Given the description of an element on the screen output the (x, y) to click on. 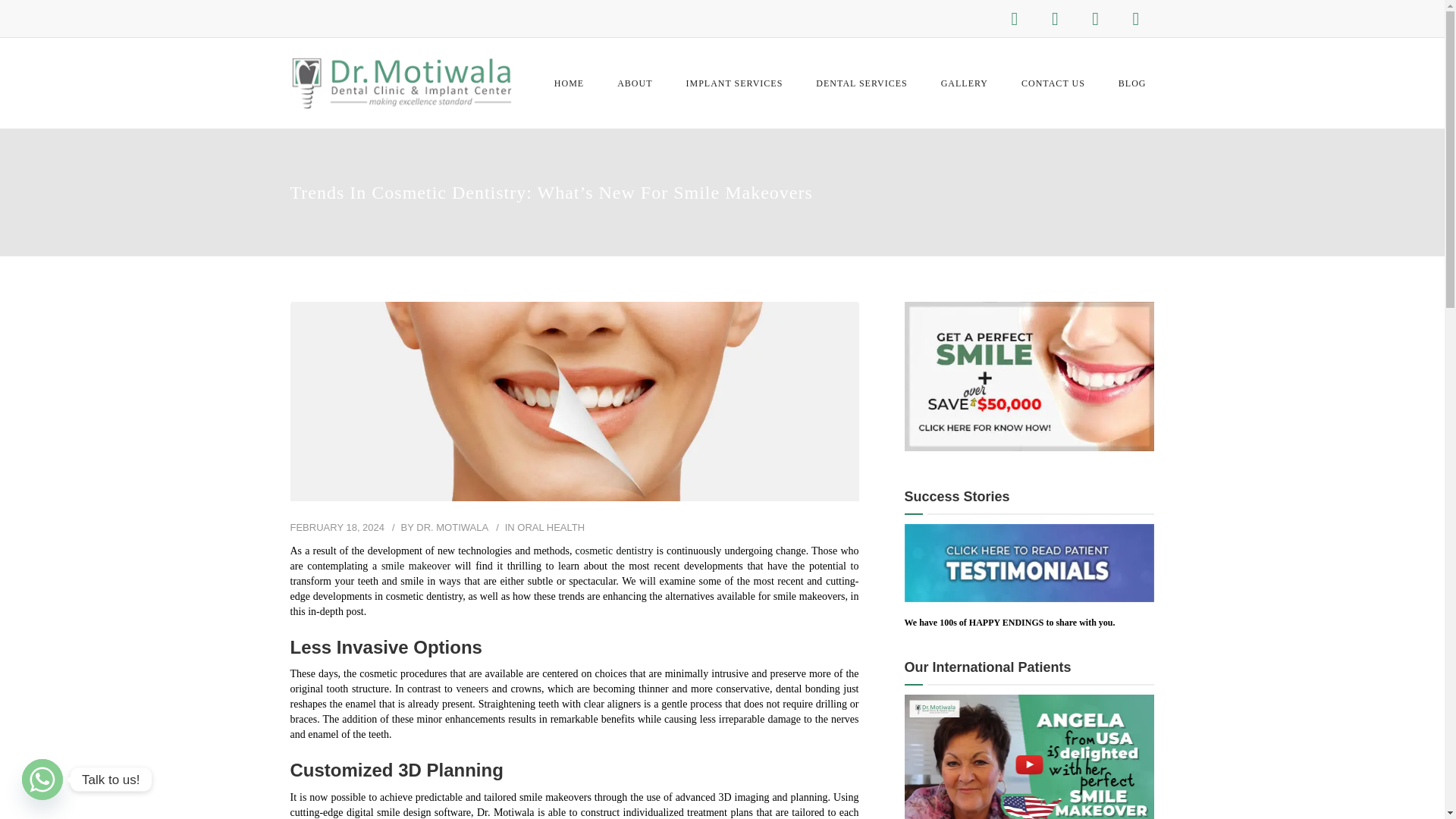
IMPLANT SERVICES (735, 83)
ABOUT (634, 83)
GALLERY (964, 83)
BLOG (1131, 83)
DENTAL SERVICES (861, 83)
DR. MOTIWALA (451, 527)
CONTACT US (1053, 83)
HOME (569, 83)
